Given the description of an element on the screen output the (x, y) to click on. 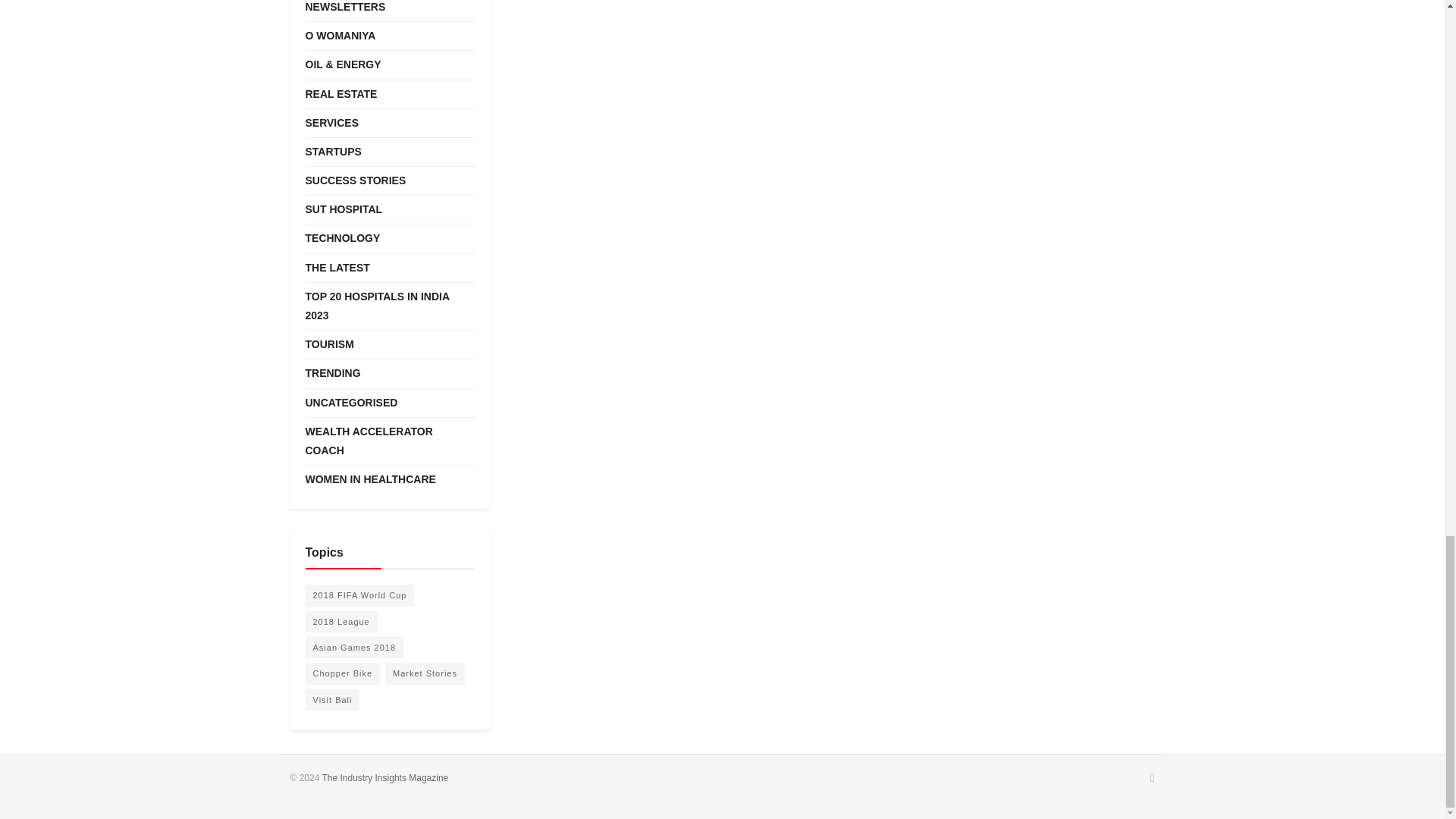
The Industry Insights (384, 777)
